Given the description of an element on the screen output the (x, y) to click on. 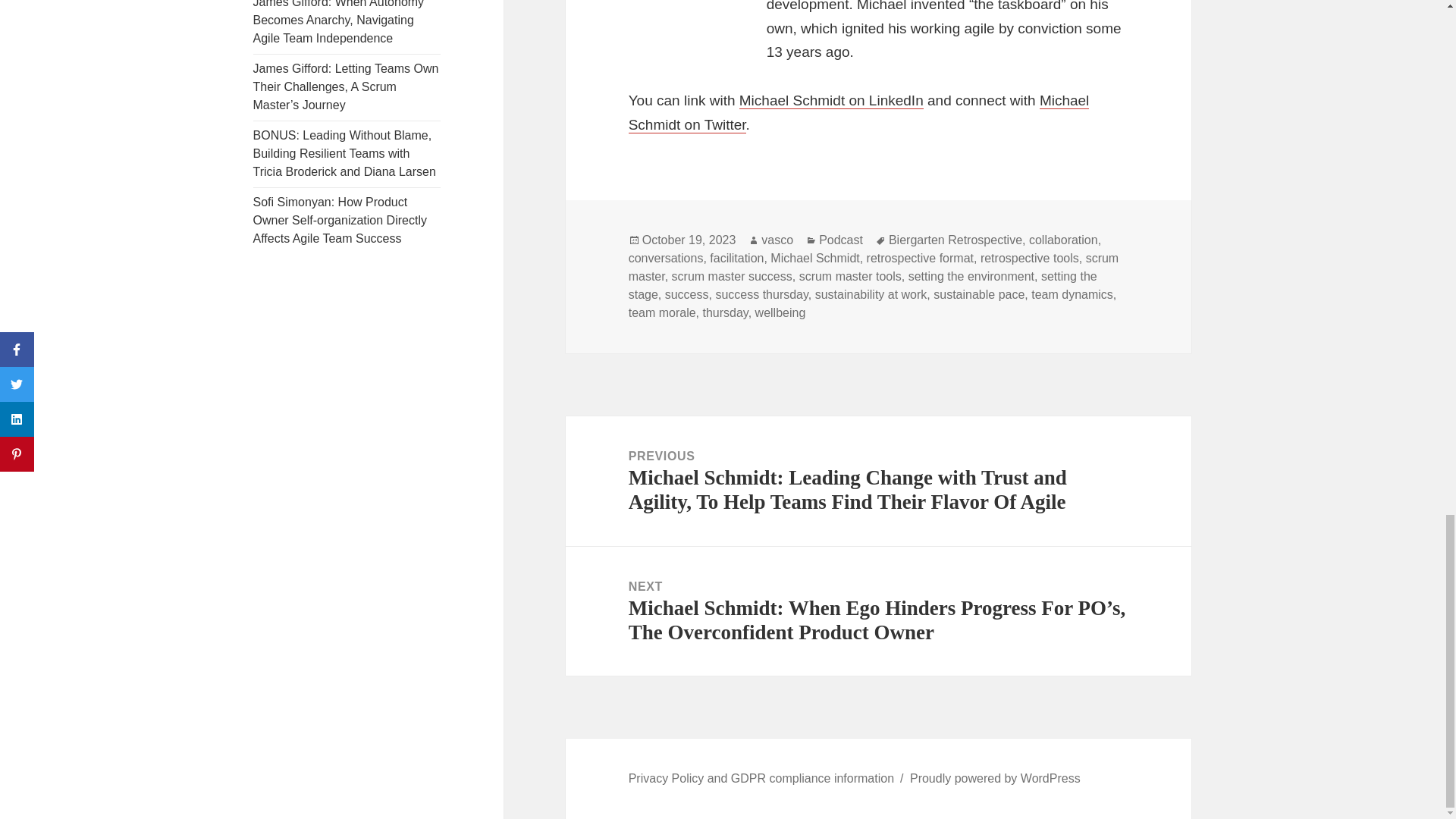
vasco (777, 240)
Michael Schmidt on LinkedIn (831, 100)
retrospective format (920, 258)
Michael Schmidt on Twitter (858, 112)
Podcast (840, 240)
Biergarten Retrospective (955, 240)
collaboration (1063, 240)
conversations (665, 258)
